Given the description of an element on the screen output the (x, y) to click on. 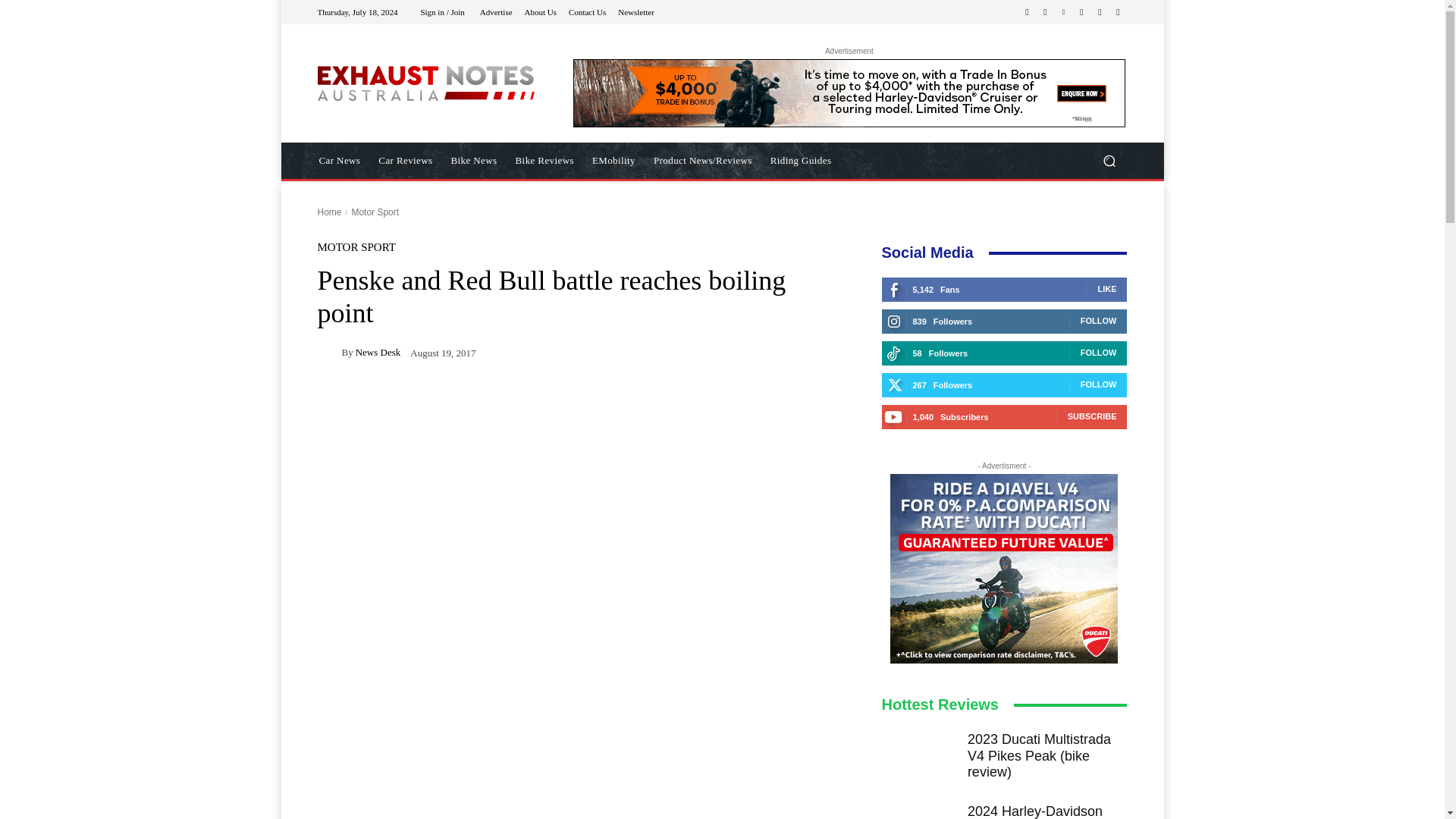
Home (328, 212)
Youtube (1117, 12)
MOTOR SPORT (355, 247)
About Us (540, 11)
Car News (338, 160)
TikTok (1080, 12)
Contact Us (587, 11)
Bike Reviews (544, 160)
Newsletter (635, 11)
Linkedin (1062, 12)
Riding Guides (801, 160)
Motor Sport (374, 212)
Advertise (496, 11)
Instagram (1044, 12)
EMobility (614, 160)
